Given the description of an element on the screen output the (x, y) to click on. 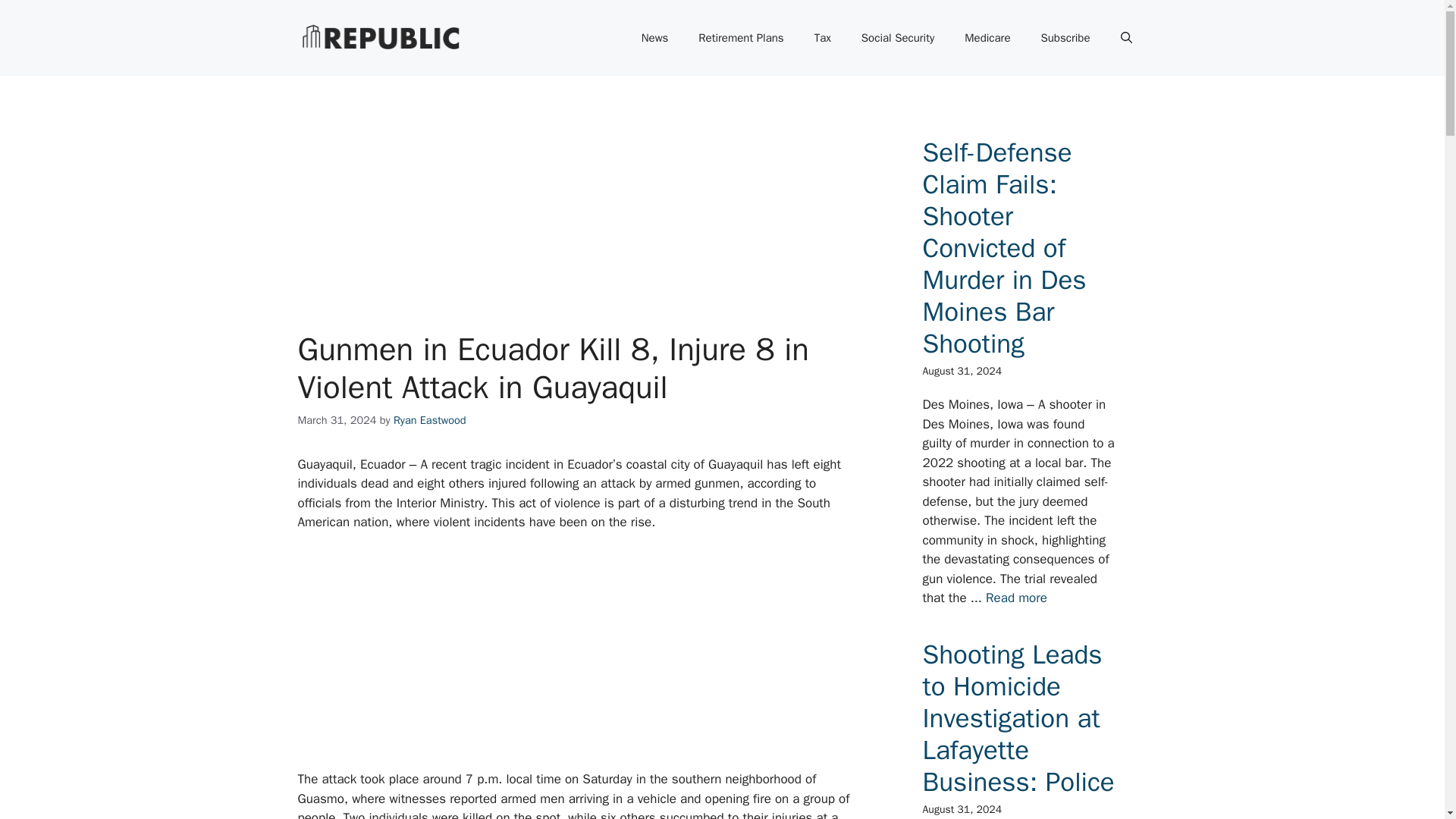
Medicare (987, 37)
News (655, 37)
Social Security (897, 37)
Read more (1015, 597)
Retirement Plans (739, 37)
Ryan Eastwood (429, 419)
View all posts by Ryan Eastwood (429, 419)
Subscribe (1065, 37)
Tax (822, 37)
